Given the description of an element on the screen output the (x, y) to click on. 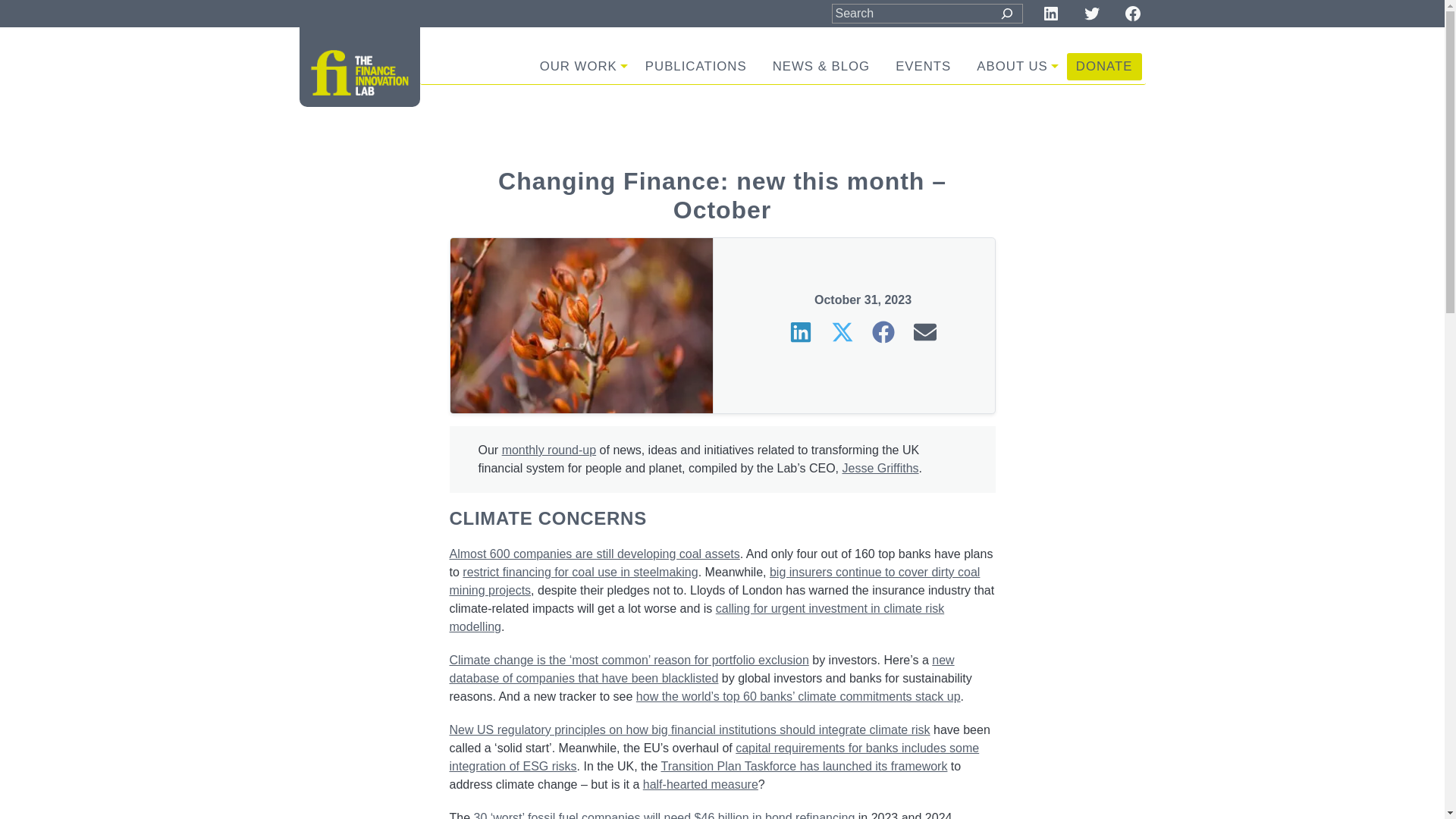
Almost 600 companies are still developing coal assets (593, 553)
ABOUT US (1013, 67)
DONATE (1104, 67)
restrict financing for coal use in steelmaking (580, 571)
monthly round-up (549, 449)
new database of companies that have been blacklisted (700, 668)
Finance Innovation Lab (360, 72)
calling for urgent investment in climate risk modelling (695, 617)
Twitter (1091, 13)
LinkedIn (1050, 13)
Jesse Griffiths (879, 468)
Facebook (1132, 13)
EVENTS (922, 67)
Share on E-mail (924, 331)
Share on Facebook (884, 331)
